Given the description of an element on the screen output the (x, y) to click on. 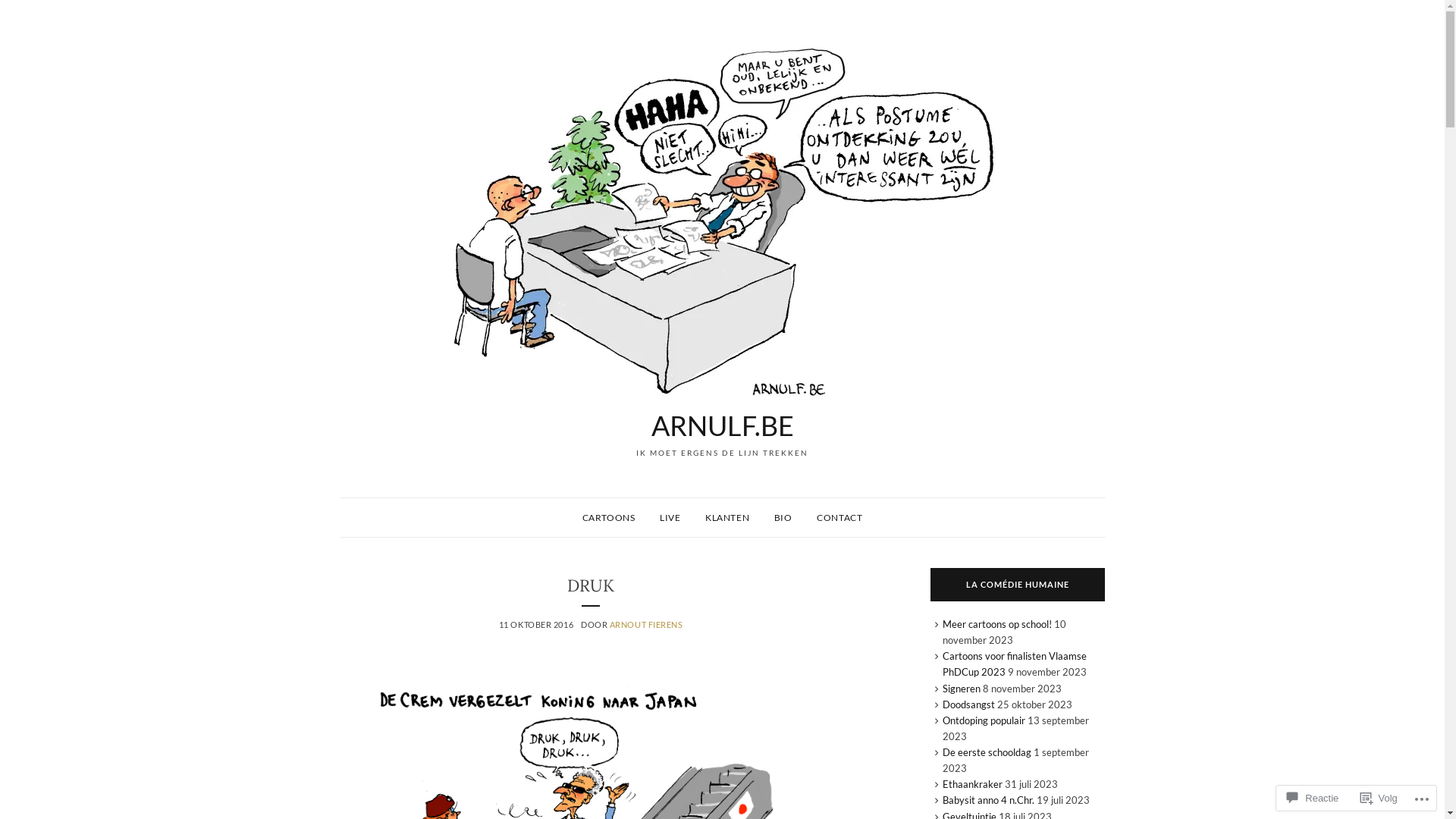
Ontdoping populair Element type: text (983, 720)
KLANTEN Element type: text (726, 517)
LIVE Element type: text (669, 517)
Doodsangst Element type: text (968, 704)
ARNULF.BE Element type: text (721, 425)
Ethaankraker Element type: text (972, 784)
Meer cartoons op school! Element type: text (996, 624)
Signeren Element type: text (961, 688)
Cartoons voor finalisten Vlaamse PhDCup 2023 Element type: text (1014, 663)
Volg Element type: text (1378, 797)
BIO Element type: text (782, 517)
Babysit anno 4 n.Chr. Element type: text (988, 799)
ARNOUT FIERENS Element type: text (646, 624)
De eerste schooldag Element type: text (986, 752)
CARTOONS Element type: text (608, 517)
Reactie Element type: text (1312, 797)
CONTACT Element type: text (839, 517)
